Given the description of an element on the screen output the (x, y) to click on. 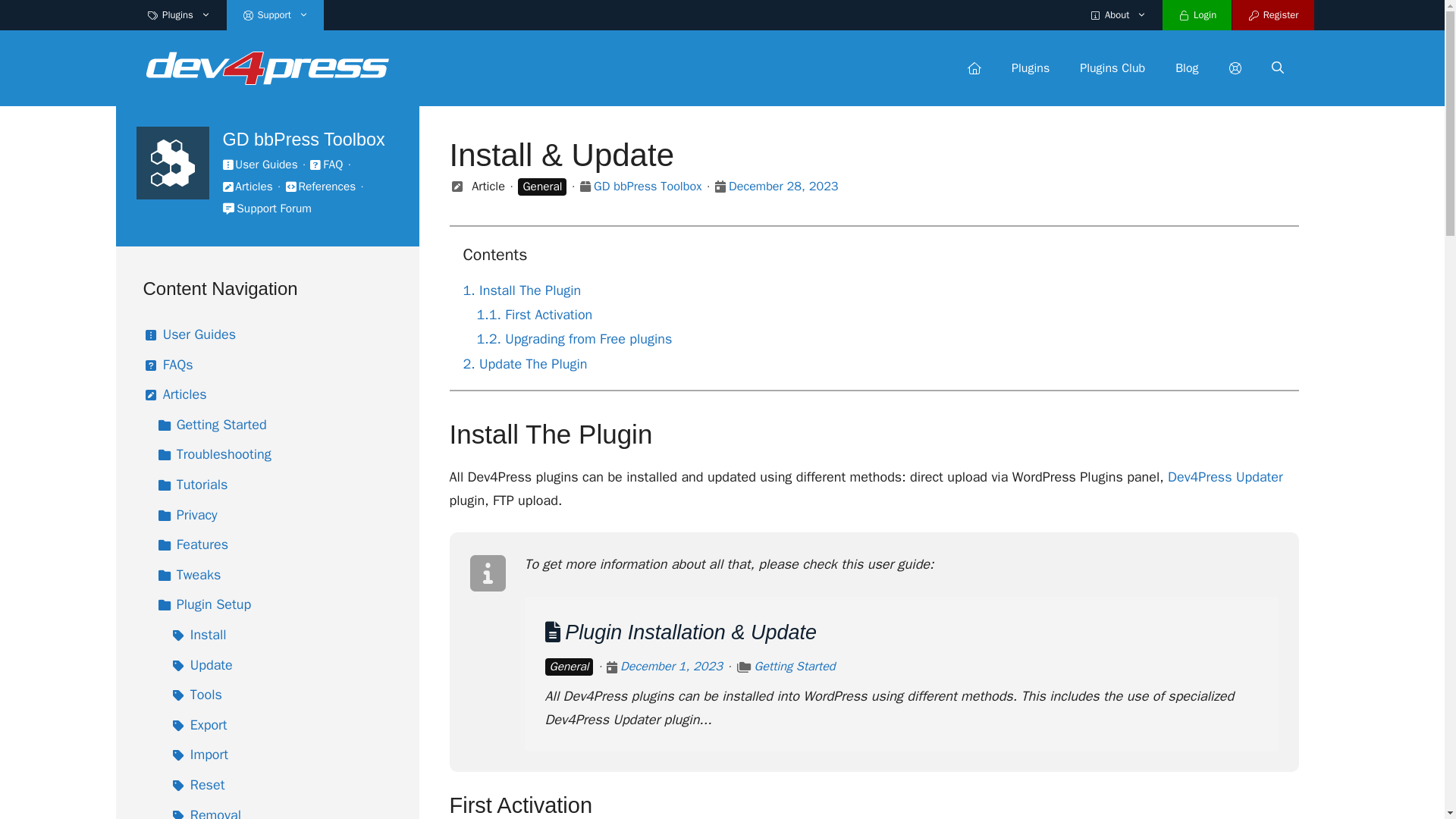
Plugins (178, 15)
Product (585, 187)
Posted on (612, 667)
Register (1272, 15)
Plugins (1029, 67)
Dev4Press Support (266, 67)
Posted on (719, 187)
Blog (1186, 67)
Plugins Club (1112, 67)
Support (275, 15)
Login (1196, 15)
Support (1233, 67)
About (1117, 15)
Category (743, 667)
